Given the description of an element on the screen output the (x, y) to click on. 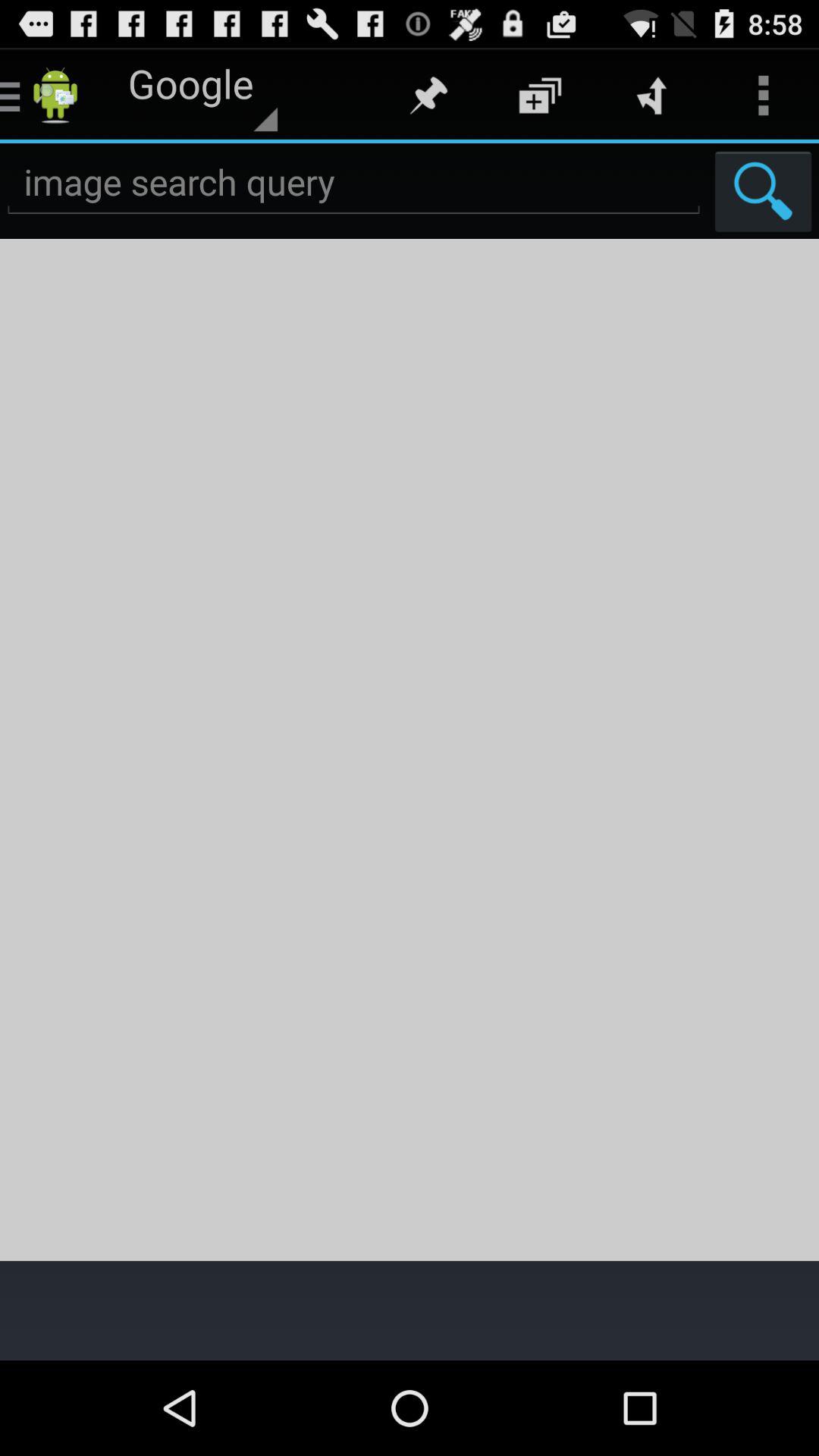
click to the search option (353, 182)
